Given the description of an element on the screen output the (x, y) to click on. 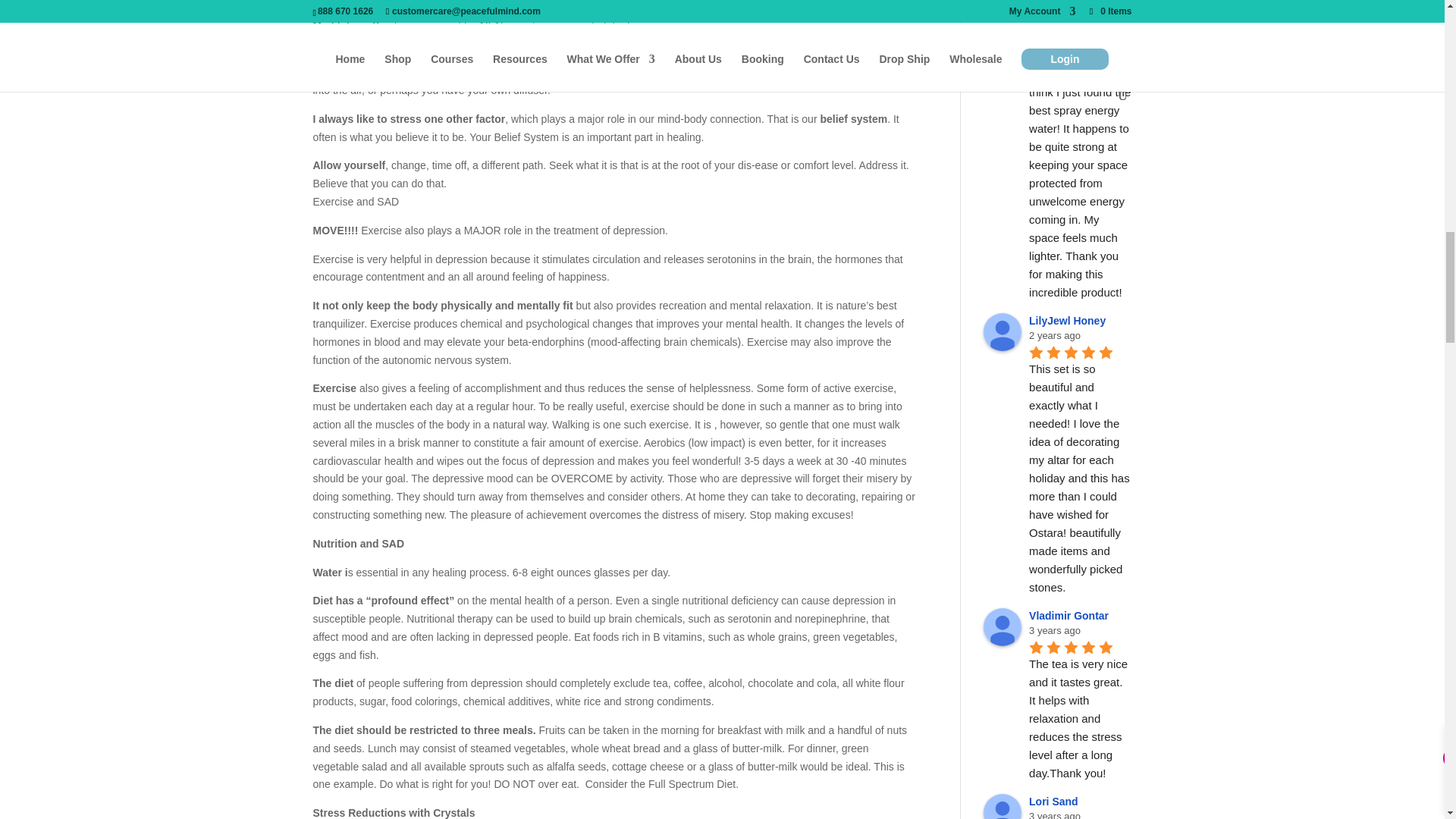
Nicole Vitale (1003, 53)
LilyJewl Honey (1003, 331)
Vladimir Gontar (1003, 627)
